Given the description of an element on the screen output the (x, y) to click on. 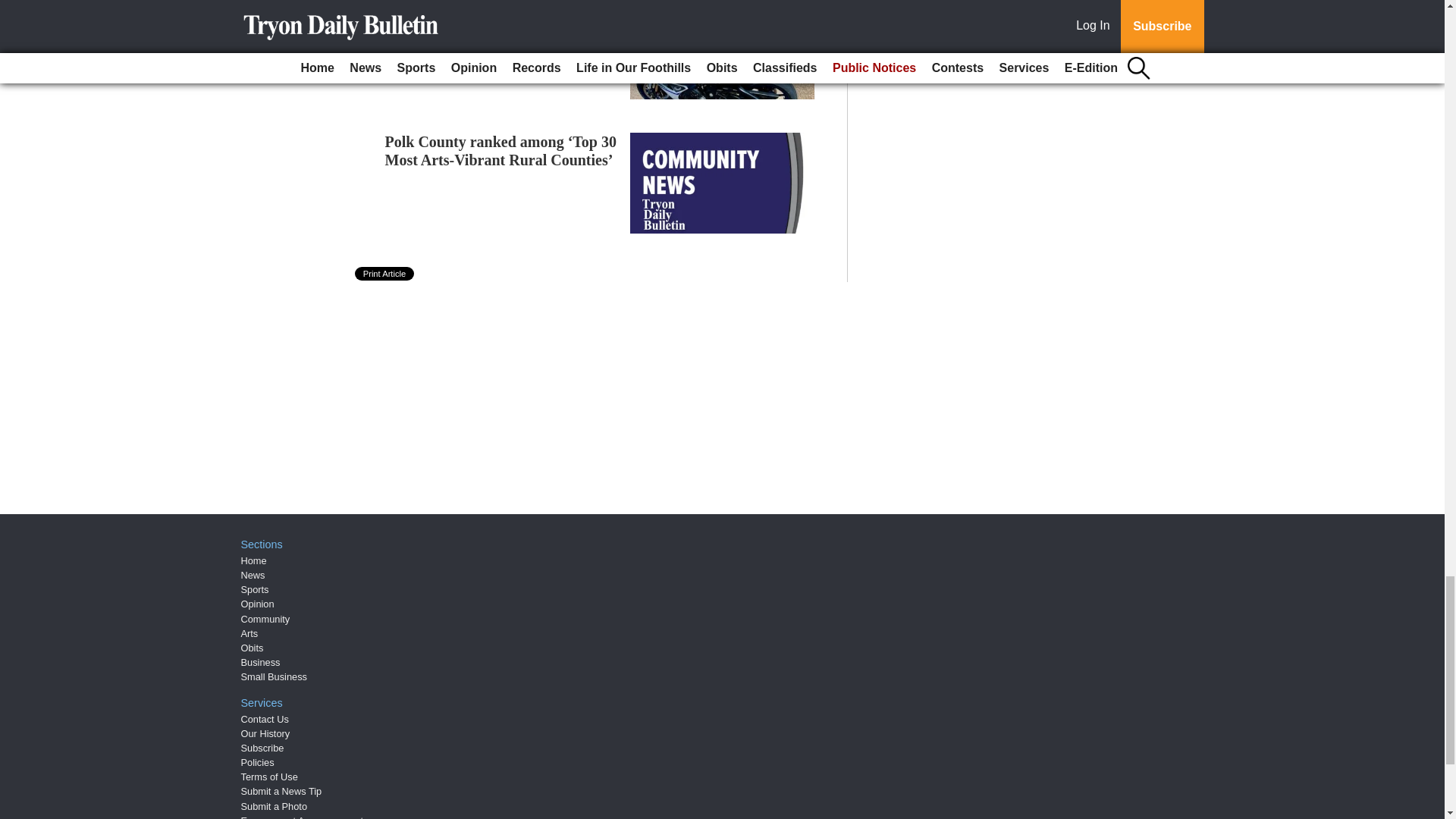
Local motorcyclist wins class at Firecracker Mile (487, 16)
